Given the description of an element on the screen output the (x, y) to click on. 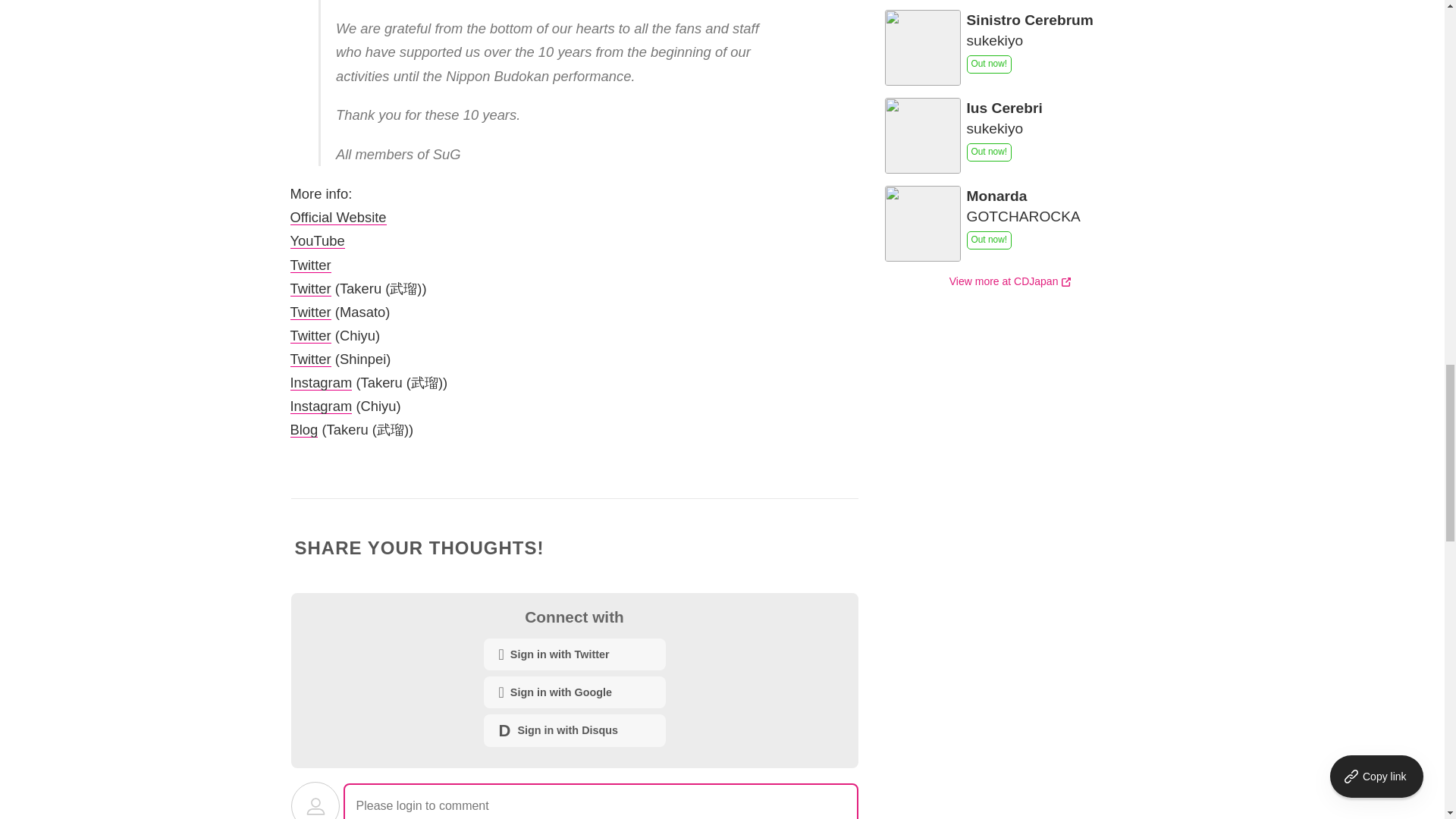
Official Website (337, 217)
